Given the description of an element on the screen output the (x, y) to click on. 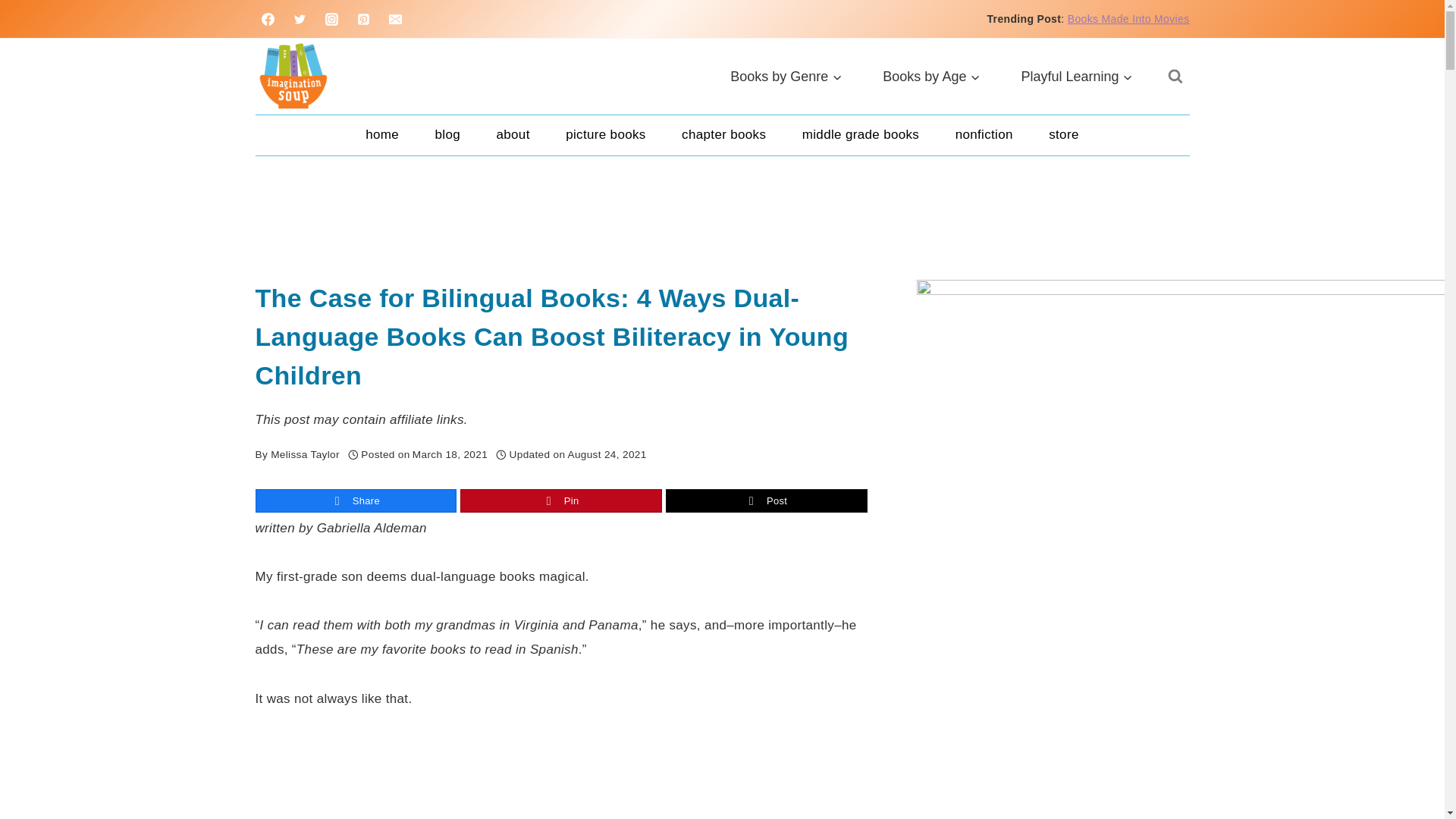
Playful Learning (1076, 76)
Books Made Into Movies (1128, 19)
Books by Genre (785, 76)
Books by Age (930, 76)
